Given the description of an element on the screen output the (x, y) to click on. 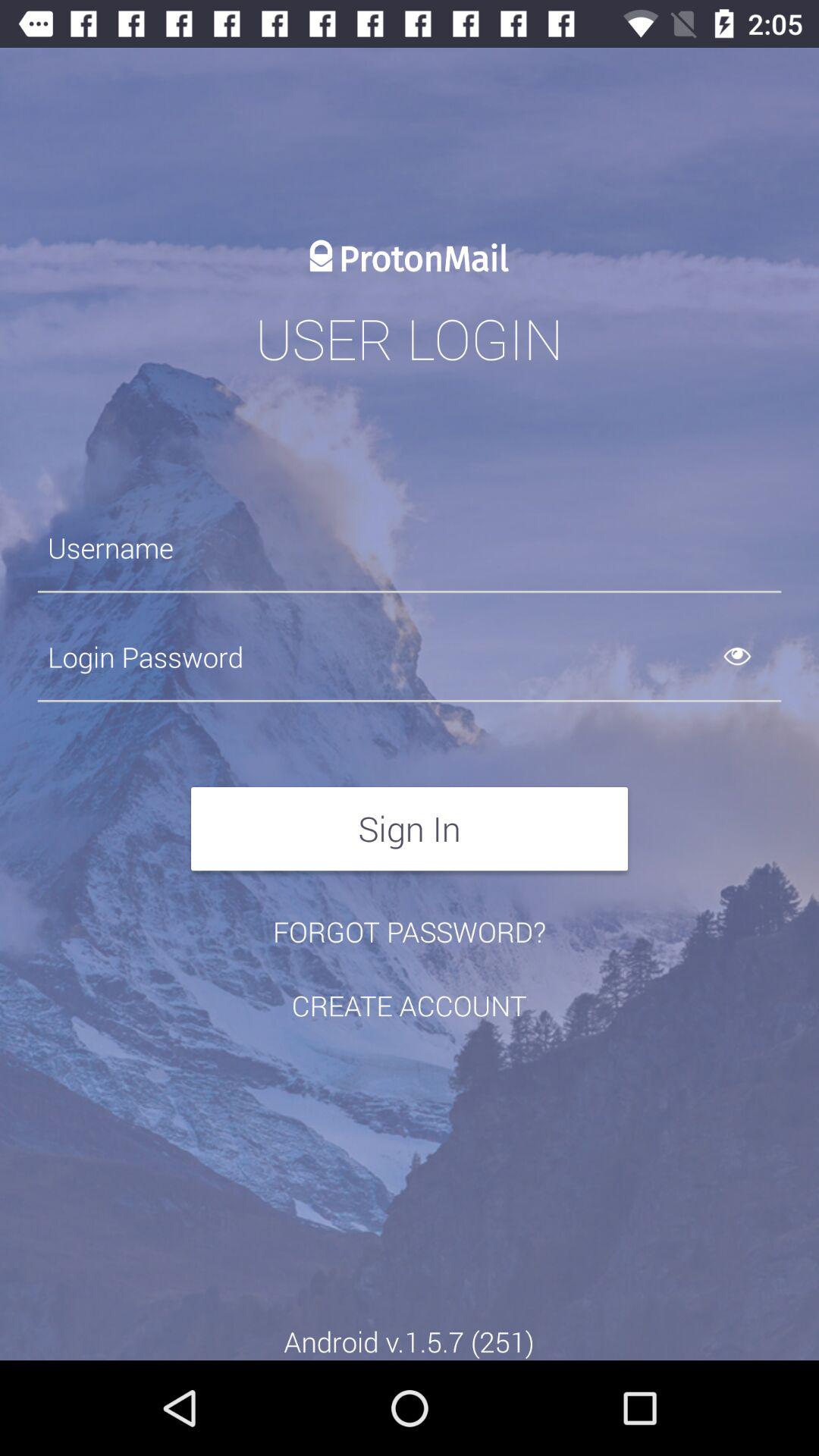
enter username (409, 547)
